Given the description of an element on the screen output the (x, y) to click on. 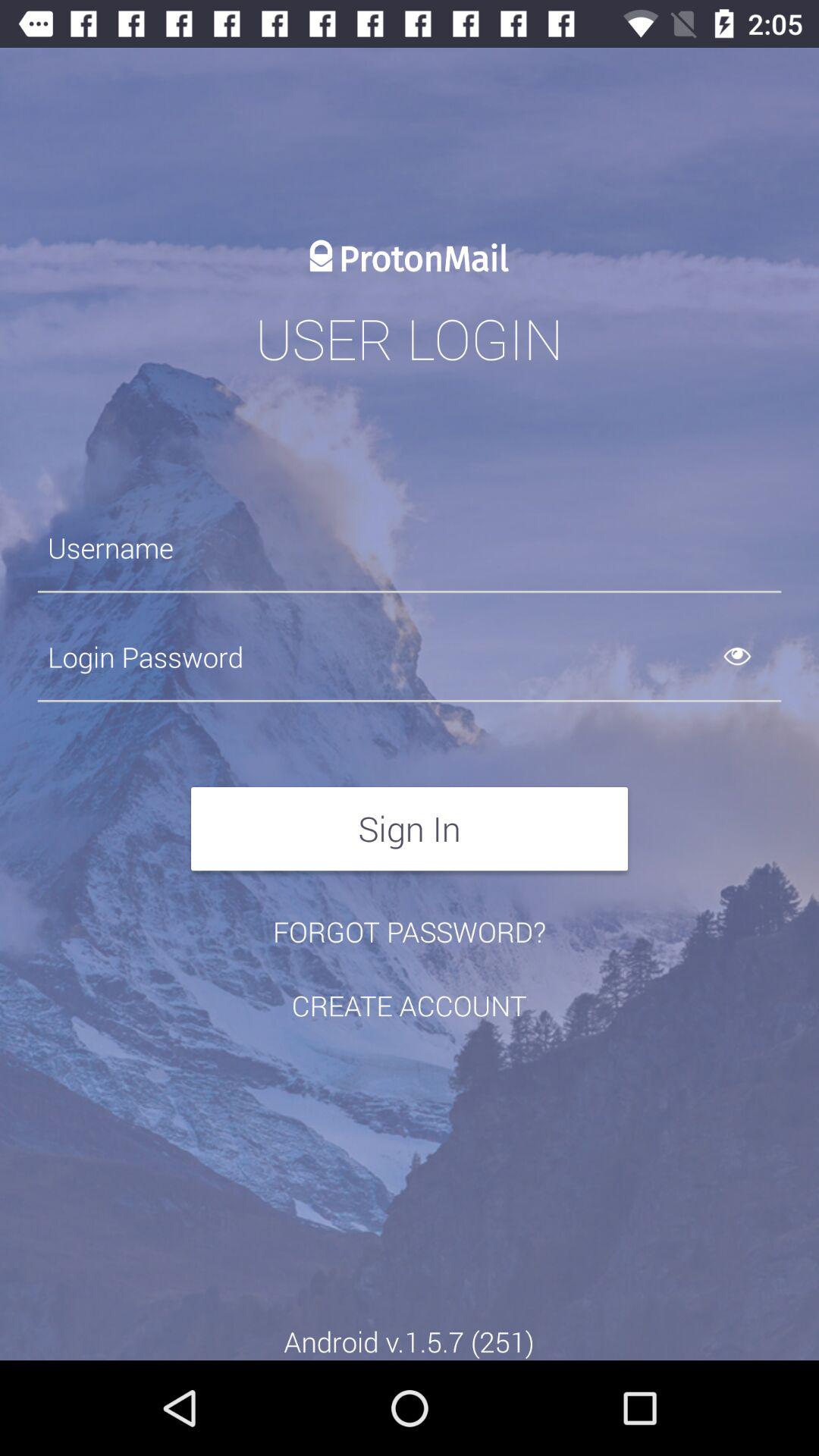
enter username (409, 547)
